Given the description of an element on the screen output the (x, y) to click on. 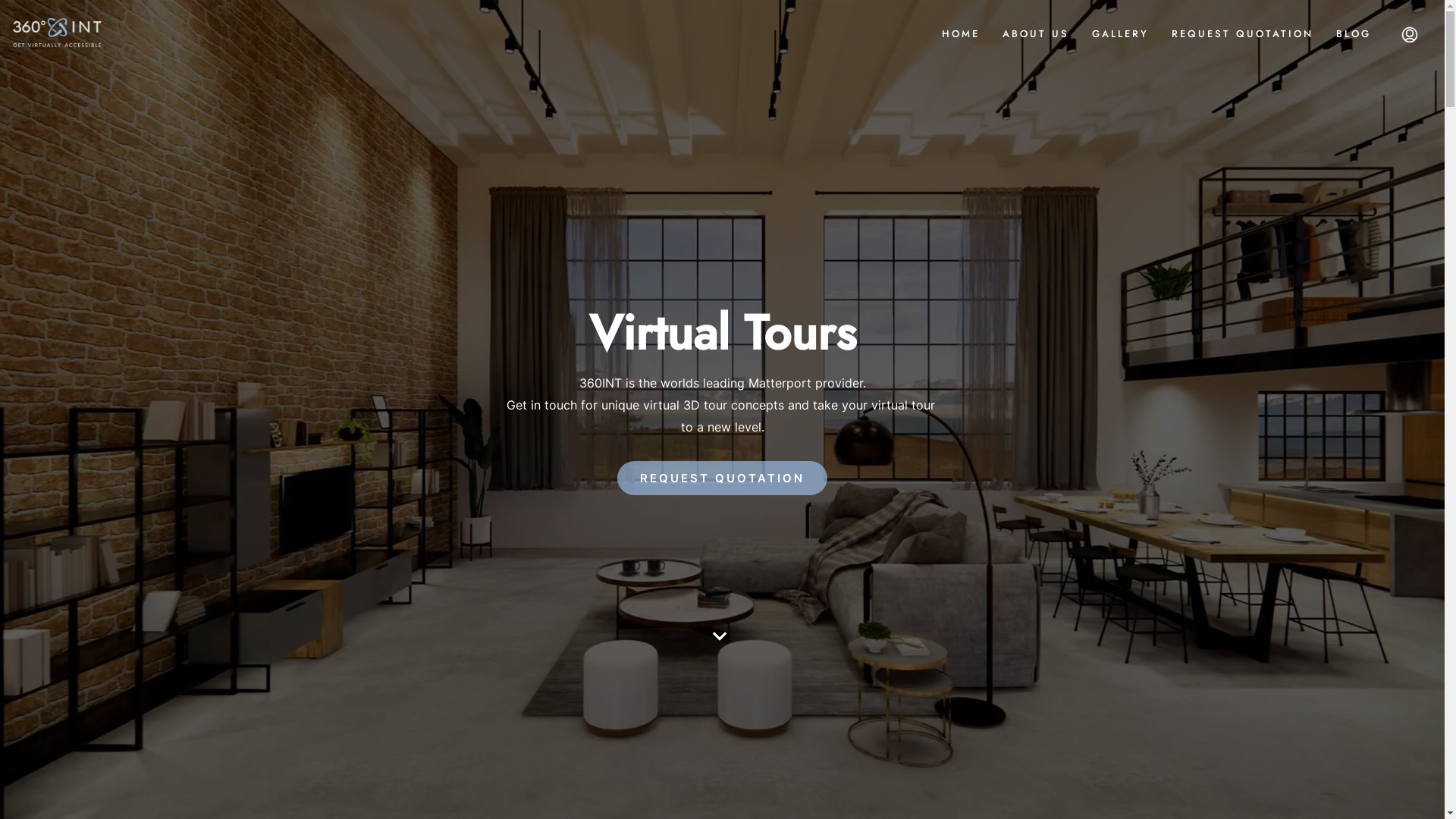
ABOUT US Element type: text (1035, 34)
GALLERY Element type: text (1120, 34)
REQUEST QUOTATION Element type: text (722, 478)
REQUEST QUOTATION Element type: text (1242, 34)
Virtual Tours Element type: text (722, 332)
HOME Element type: text (960, 34)
BLOG Element type: text (1353, 34)
